Given the description of an element on the screen output the (x, y) to click on. 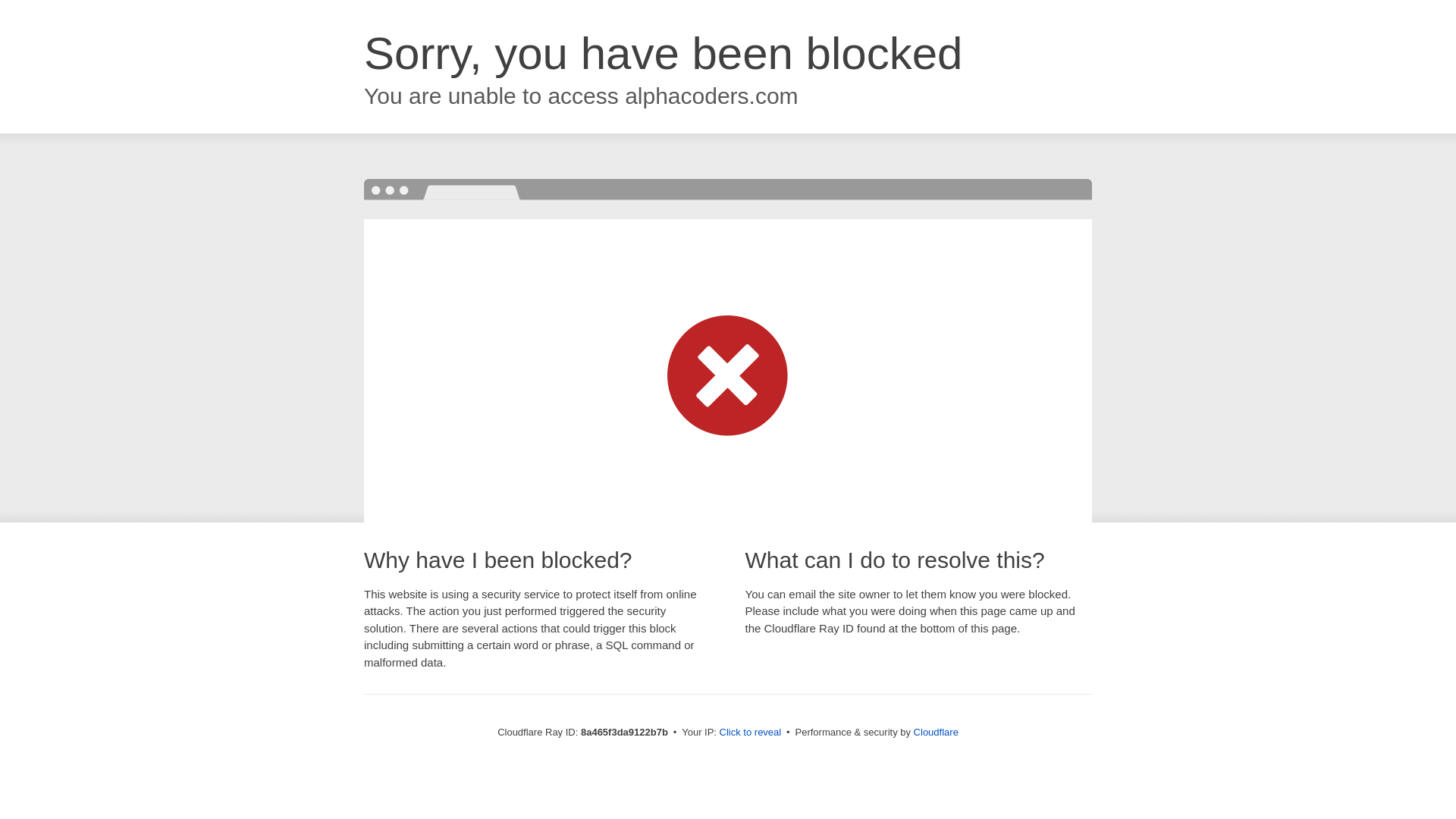
Cloudflare (936, 731)
Click to reveal (750, 732)
